Given the description of an element on the screen output the (x, y) to click on. 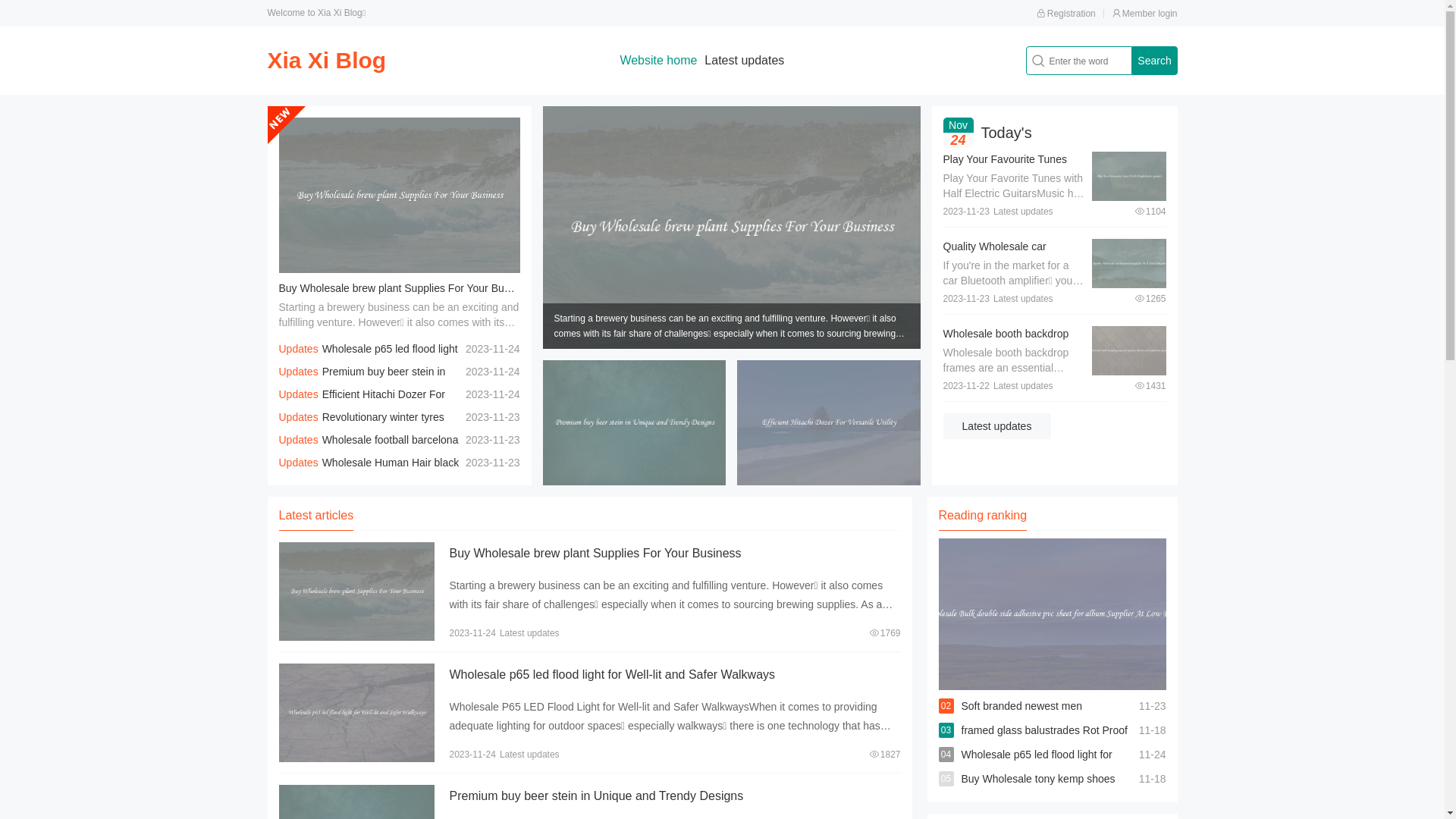
Soft branded newest men underwear For Comfort  Element type: text (1021, 717)
Revolutionary winter tyres 245 35r20 For Rallying Element type: text (361, 428)
Member login Element type: text (1144, 13)
Latest updates Element type: text (997, 426)
Premium buy beer stein in Unique and Trendy Designs Element type: text (362, 382)
Quality Wholesale car bluetooth amplifier At A Great Bargain Element type: text (1011, 261)
Website home Element type: text (657, 59)
Xia Xi Blog Element type: text (325, 59)
Buy Wholesale brew plant Supplies For Your Business Element type: text (406, 288)
Search Element type: text (1153, 60)
Play Your Favourite Tunes With A half electric guitars Element type: text (1004, 166)
framed glass balustrades Rot Proof And Elegant Element type: text (1044, 742)
Efficient Hitachi Dozer For Versatile Utility Element type: text (362, 405)
Registration Element type: text (1065, 13)
Latest updates Element type: text (744, 59)
Buy Wholesale brew plant Supplies For Your Business Element type: text (594, 552)
Premium buy beer stein in Unique and Trendy Designs Element type: text (595, 795)
